Given the description of an element on the screen output the (x, y) to click on. 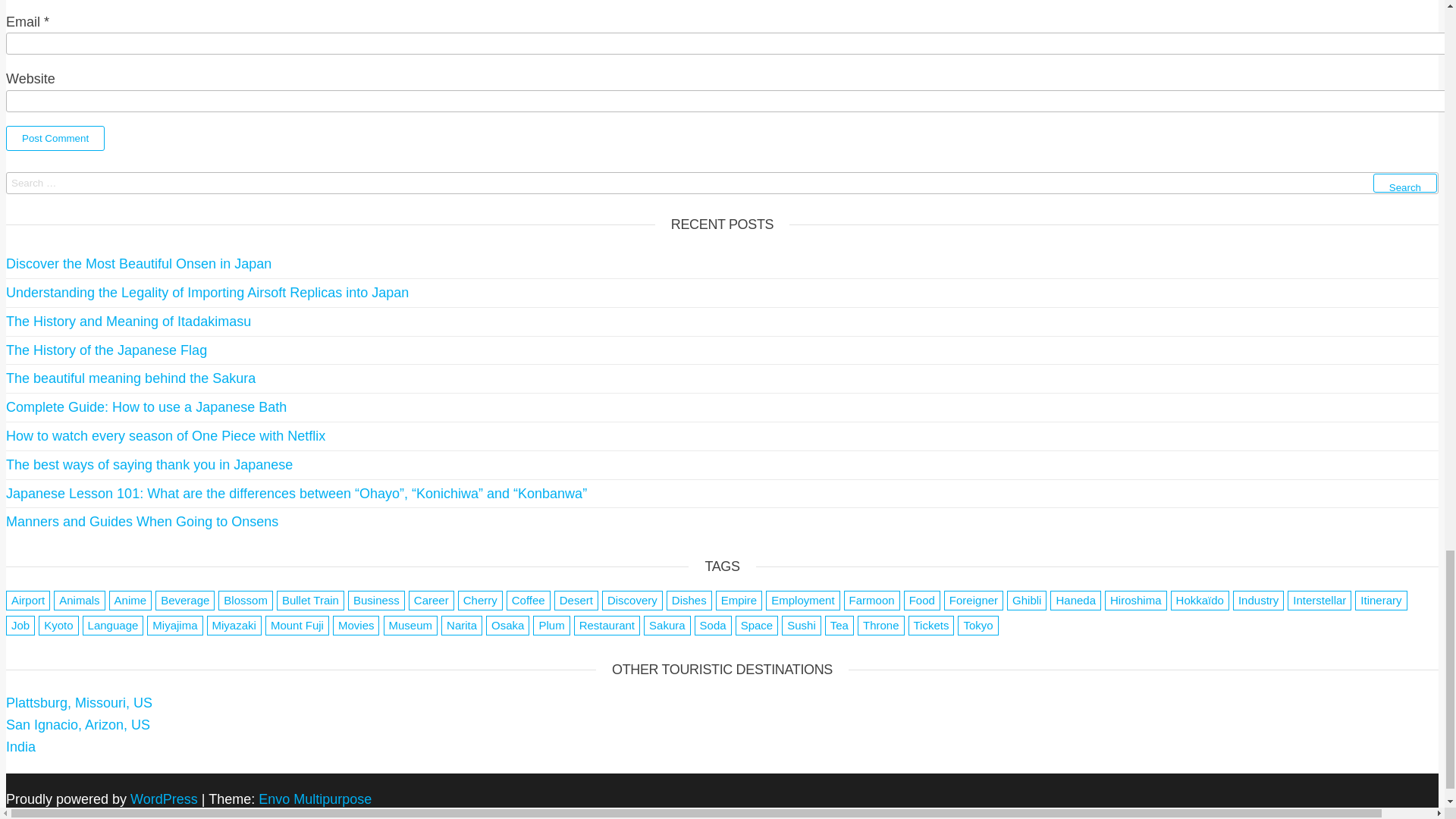
Business (375, 600)
Animals (78, 600)
Search (1405, 182)
Career (431, 600)
Anime (130, 600)
Post Comment (54, 138)
The History and Meaning of Itadakimasu (127, 321)
Discover the Most Beautiful Onsen in Japan (137, 263)
Coffee (528, 600)
Search (1405, 182)
Beverage (184, 600)
Airport (27, 600)
The History of the Japanese Flag (105, 350)
Cherry (480, 600)
